Given the description of an element on the screen output the (x, y) to click on. 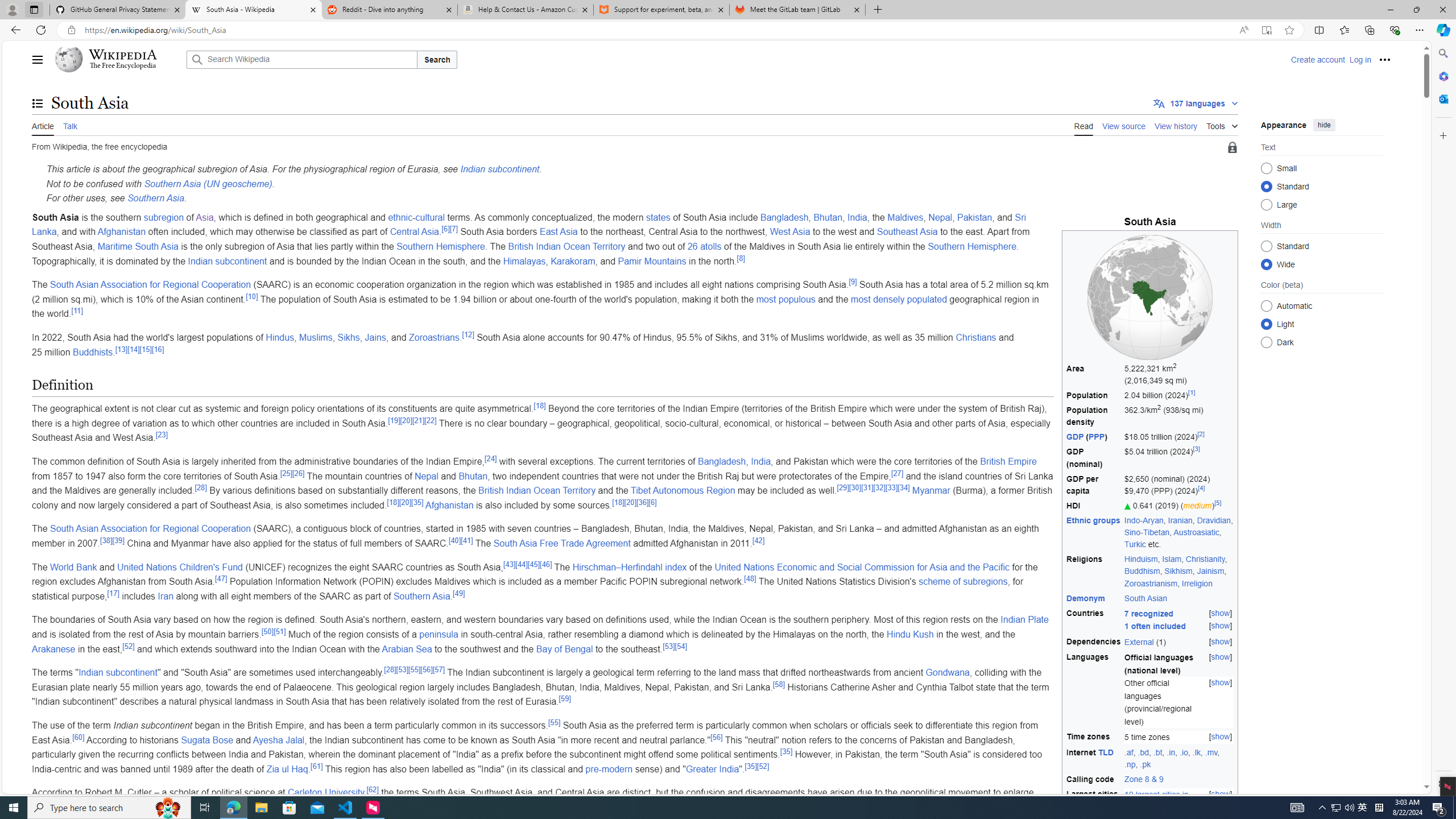
[55] (554, 722)
Read (1083, 124)
hide (1324, 124)
Area (1093, 374)
[58] (777, 683)
Population (1093, 395)
[54] (680, 645)
Talk (69, 124)
[40] (454, 539)
GDP (nominal) (1093, 457)
Sugata Bose (207, 739)
Christianity (1204, 559)
East Asia (559, 231)
subregion (163, 217)
